Given the description of an element on the screen output the (x, y) to click on. 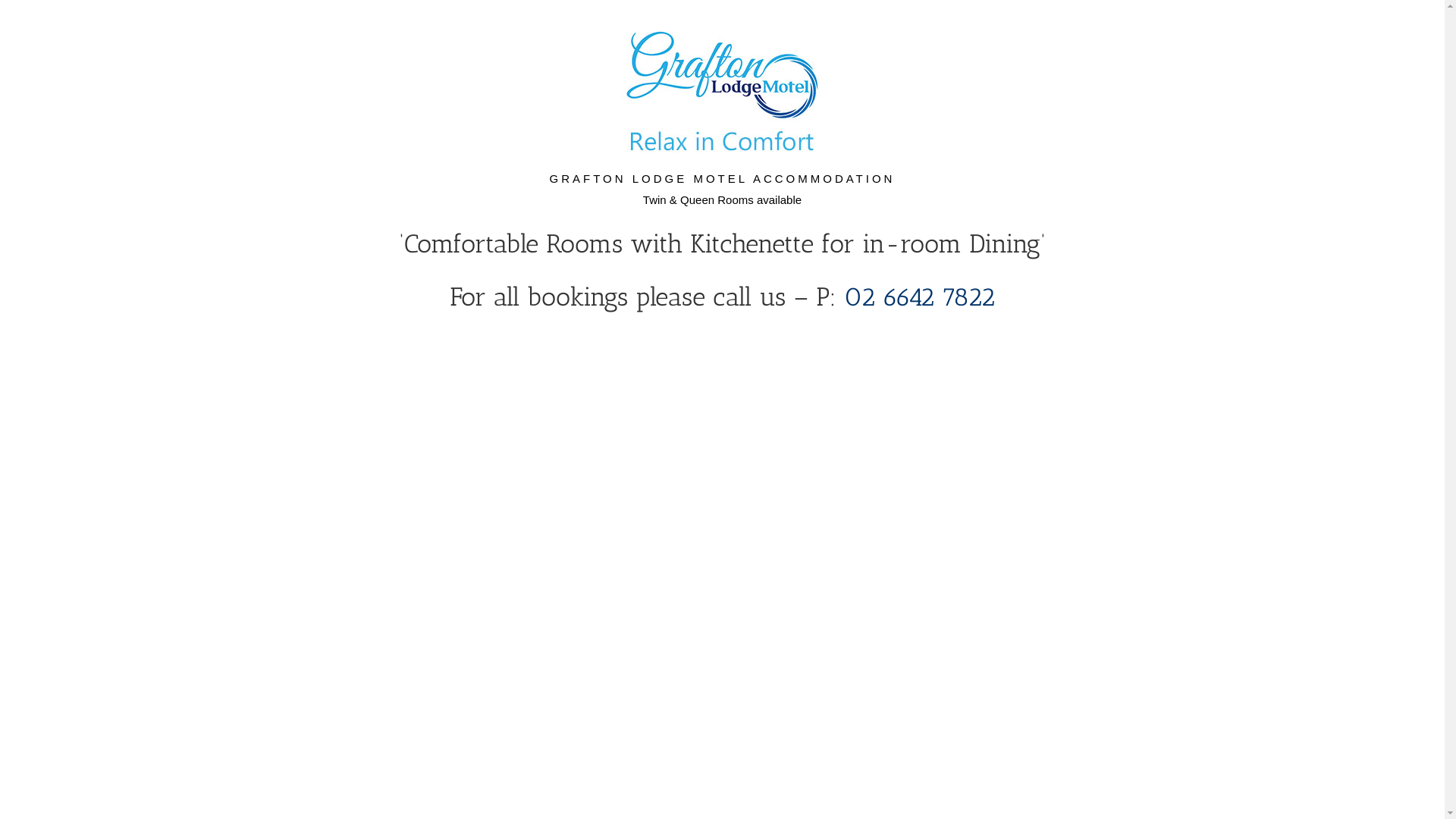
02 6642 7822 Element type: text (919, 296)
